Given the description of an element on the screen output the (x, y) to click on. 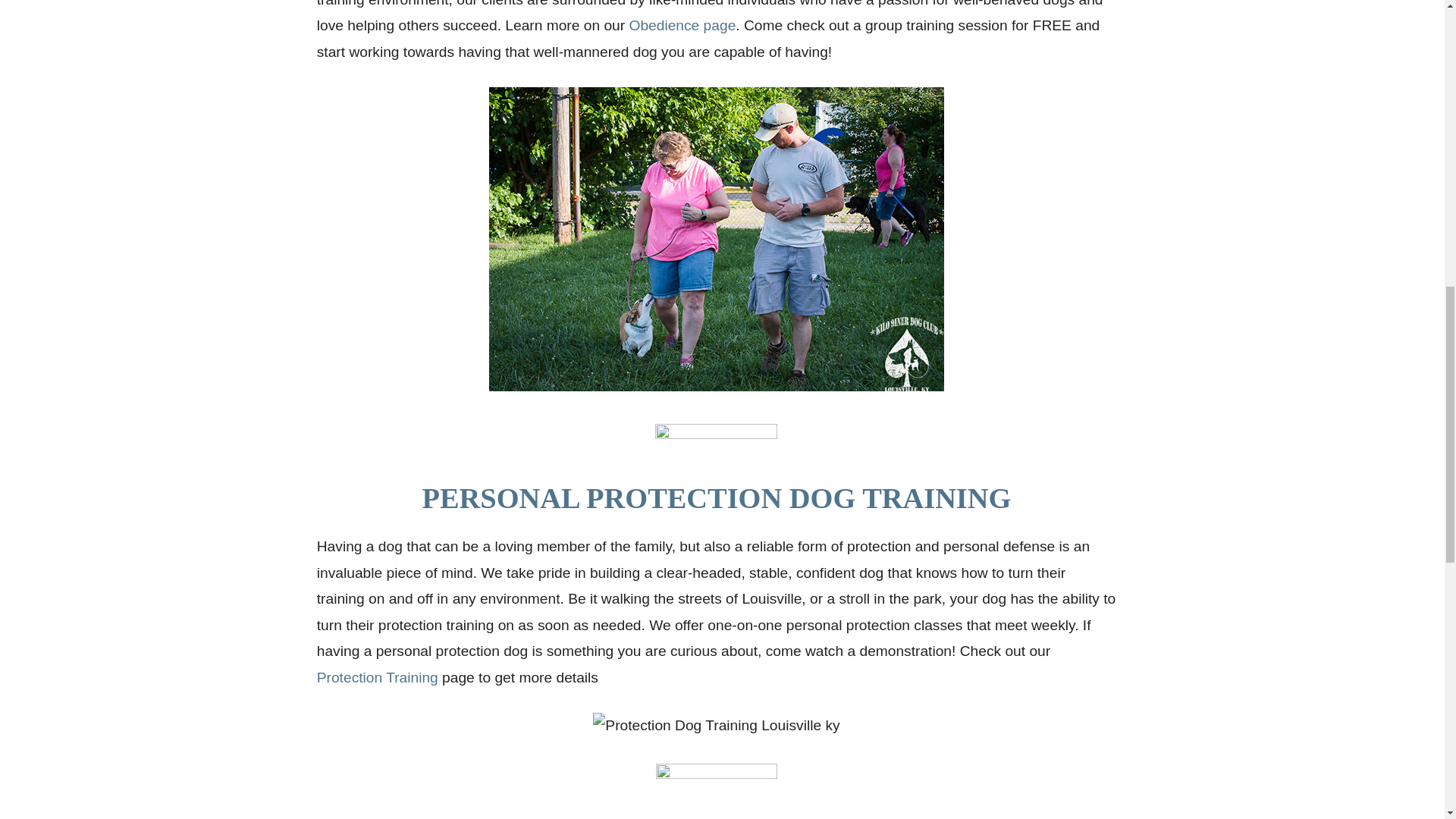
Obedience page (681, 25)
PERSONAL PROTECTION DOG TRAINING (716, 498)
Protection Training (377, 677)
